Given the description of an element on the screen output the (x, y) to click on. 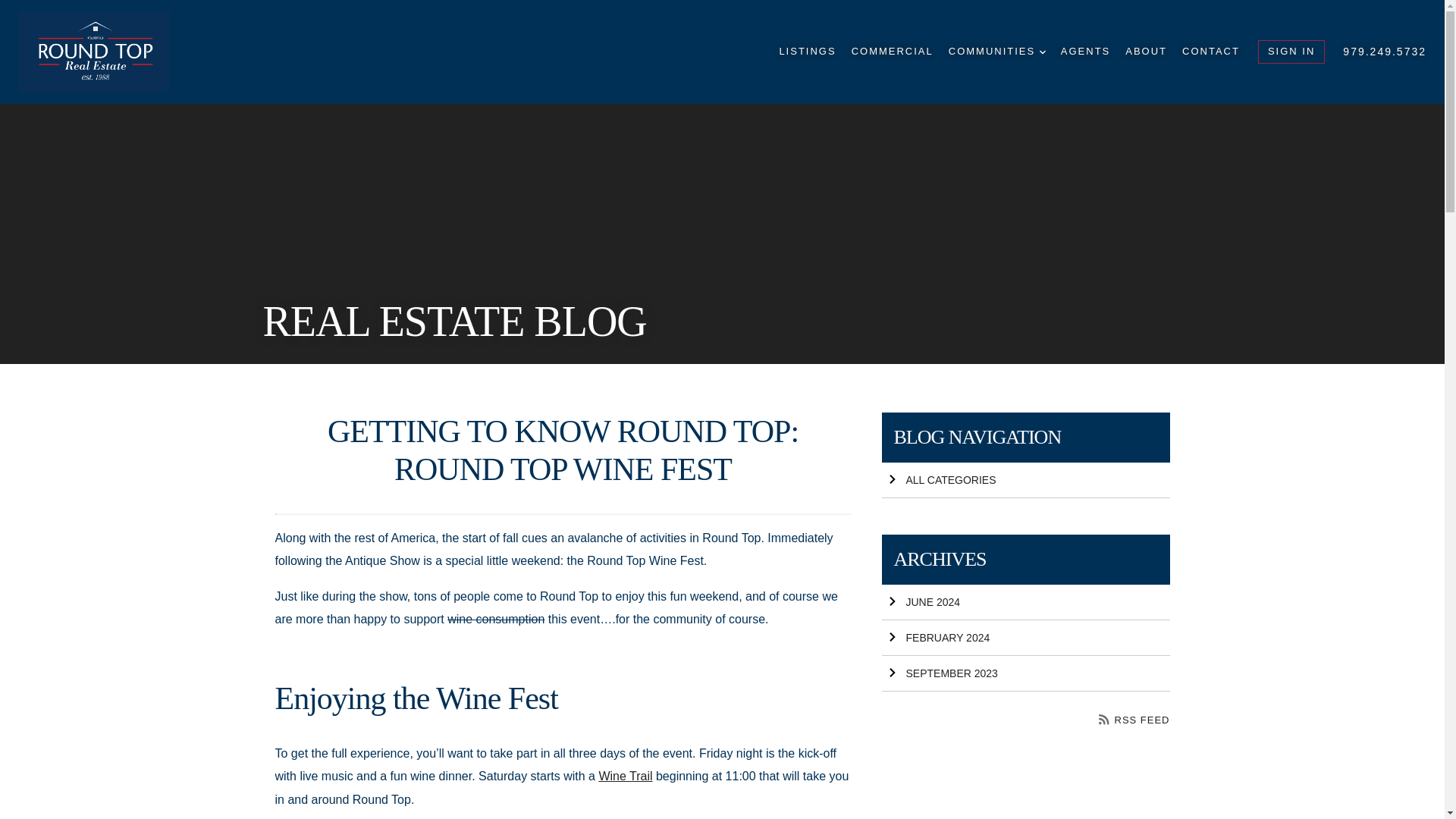
FEBRUARY 2024 (1024, 637)
LISTINGS (806, 51)
RSS FEED (1134, 719)
ABOUT (1146, 51)
AGENTS (1085, 51)
JUNE 2024 (1024, 601)
CONTACT (1211, 51)
Wine Trail (625, 775)
SIGN IN (1290, 51)
COMMERCIAL (892, 51)
979.249.5732 (1384, 51)
ALL CATEGORIES (1024, 479)
DROPDOWN ARROW (1042, 52)
COMMUNITIES DROPDOWN ARROW (997, 51)
